Given the description of an element on the screen output the (x, y) to click on. 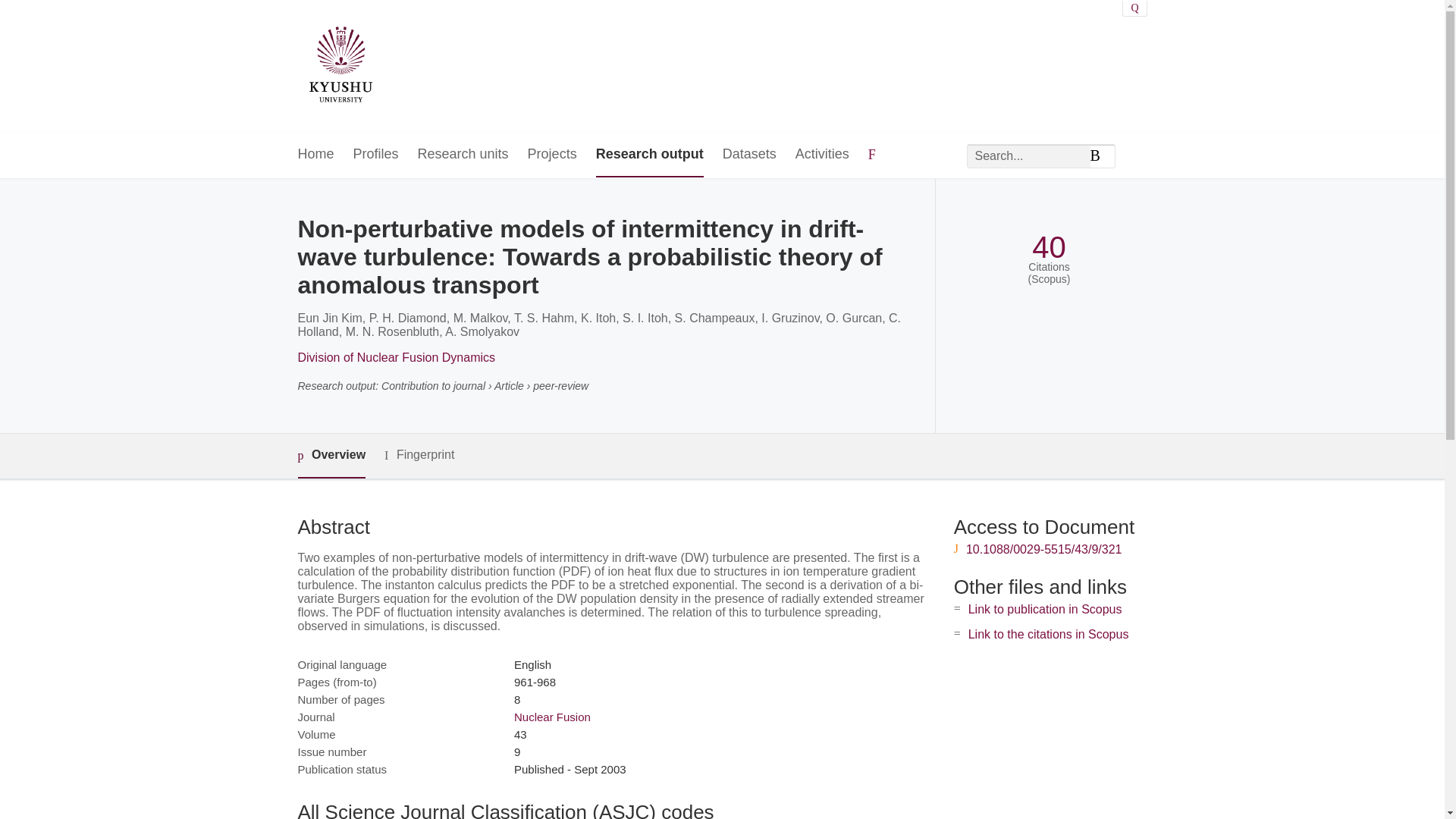
40 (1048, 247)
Projects (551, 154)
Activities (821, 154)
Fingerprint (419, 455)
Link to publication in Scopus (1045, 608)
Link to the citations in Scopus (1048, 634)
Nuclear Fusion (552, 716)
Profiles (375, 154)
Datasets (749, 154)
Research output (649, 154)
Overview (331, 456)
Division of Nuclear Fusion Dynamics (396, 357)
Research units (462, 154)
